Given the description of an element on the screen output the (x, y) to click on. 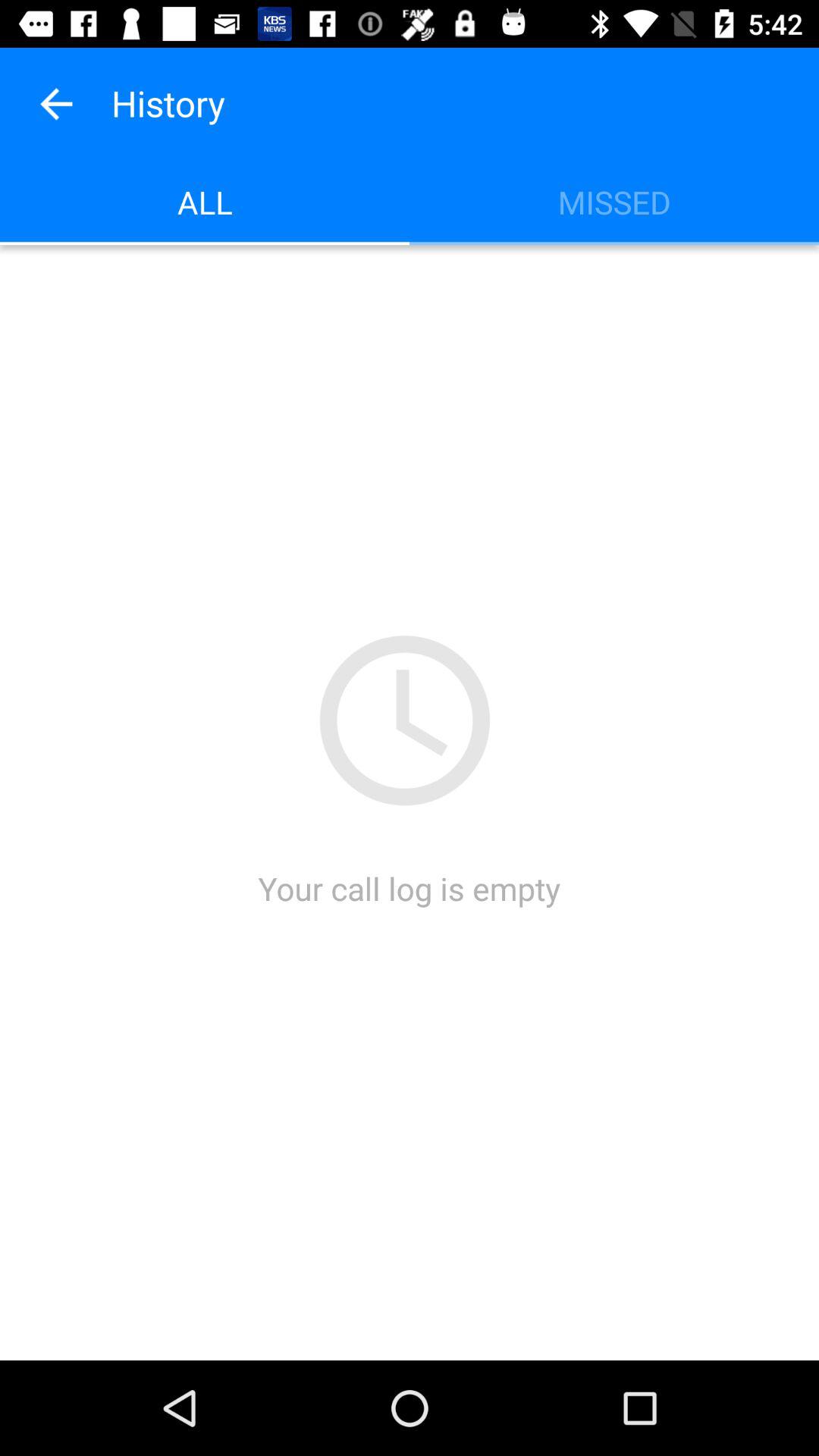
choose the icon at the top right corner (614, 202)
